Given the description of an element on the screen output the (x, y) to click on. 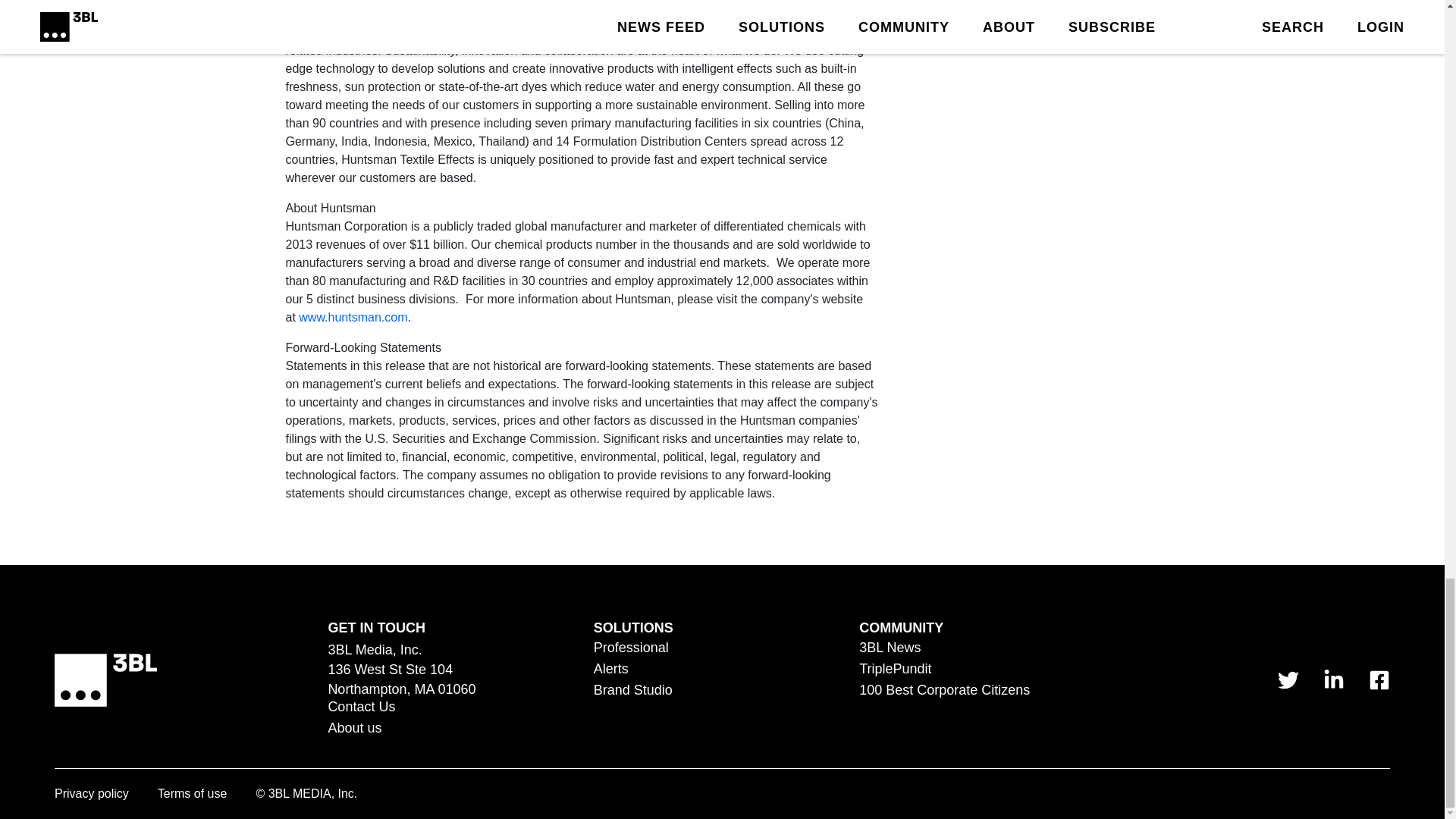
link to 3 B L Media's Facebook (1379, 680)
link to 3 B L Media's Twitter (1288, 680)
link to 3 B L Media's Linkedin (1333, 680)
